Given the description of an element on the screen output the (x, y) to click on. 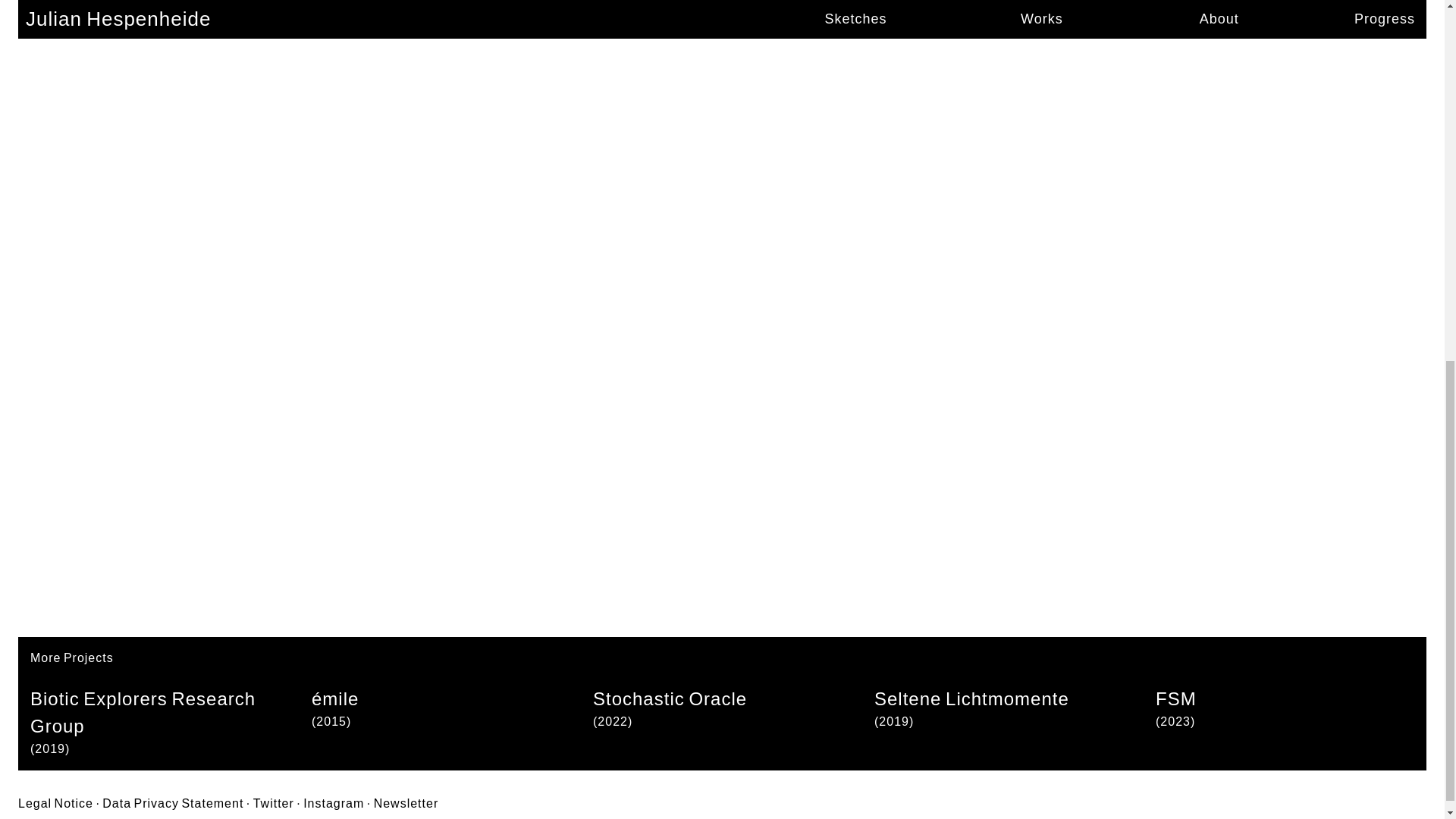
Twitter (273, 803)
Instagram (333, 803)
Newsletter (406, 803)
